Given the description of an element on the screen output the (x, y) to click on. 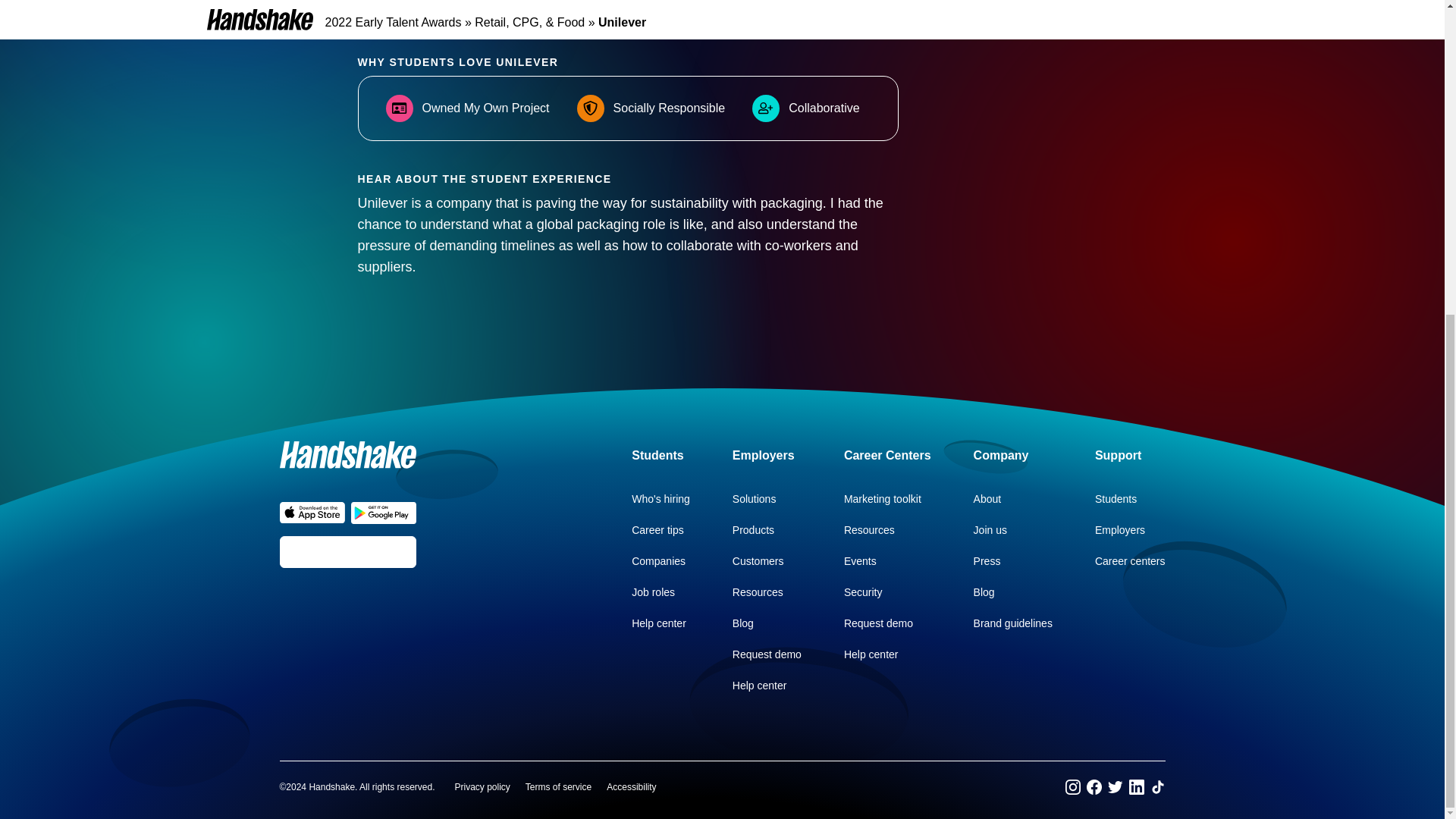
Help center (658, 623)
Facebook (1093, 786)
Solutions (754, 499)
Blog (984, 592)
Job roles (653, 592)
Companies (658, 561)
Who's hiring (660, 499)
Marketing toolkit (882, 499)
Download Android app (382, 513)
LinkedIn (1135, 786)
